Given the description of an element on the screen output the (x, y) to click on. 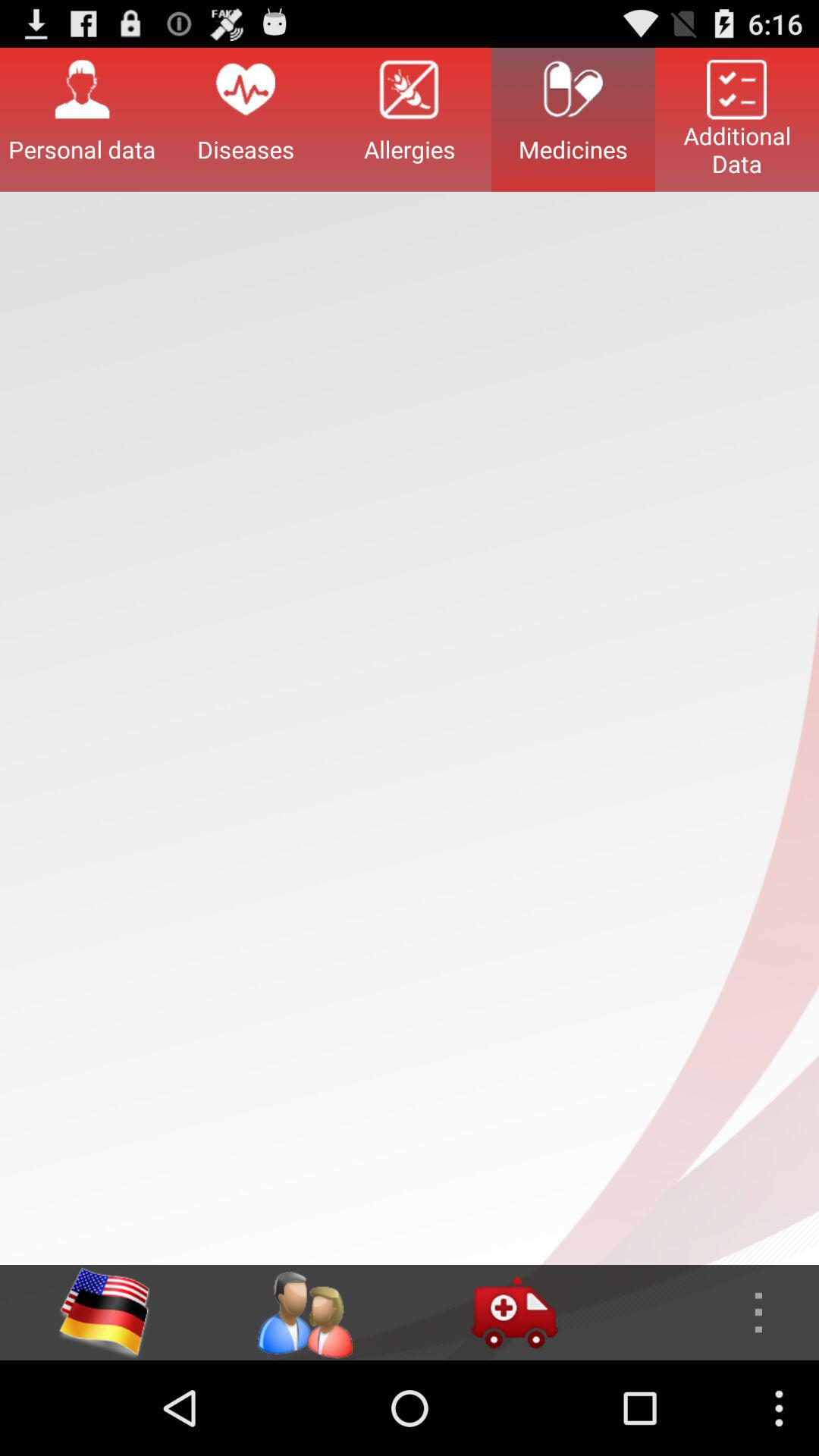
flip until the additional data icon (737, 119)
